Given the description of an element on the screen output the (x, y) to click on. 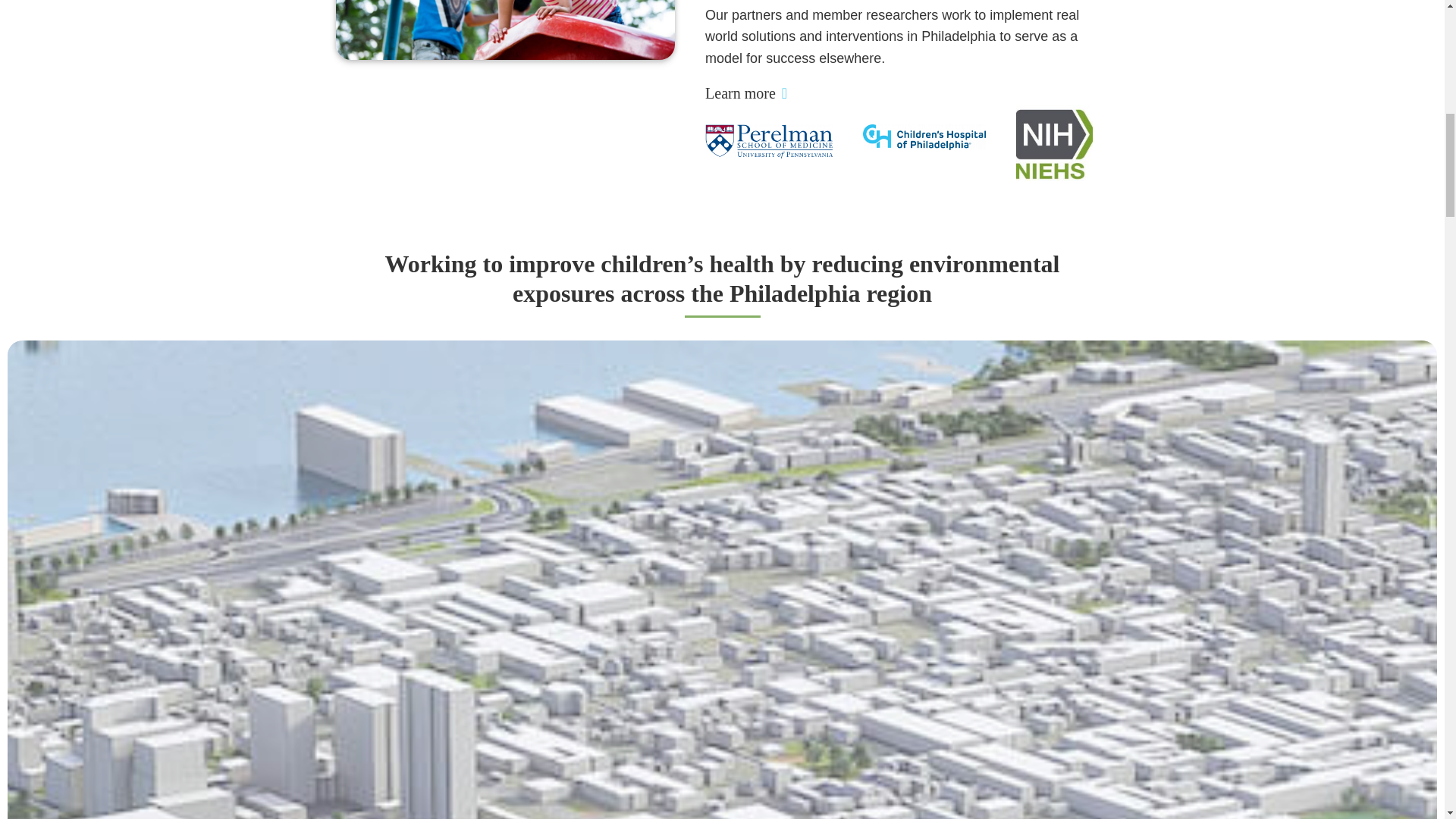
Children's Hospital of Philadelphia logo (924, 136)
NIH NIEHS logo (1054, 142)
Perelman School of Medicine logo (768, 141)
